Given the description of an element on the screen output the (x, y) to click on. 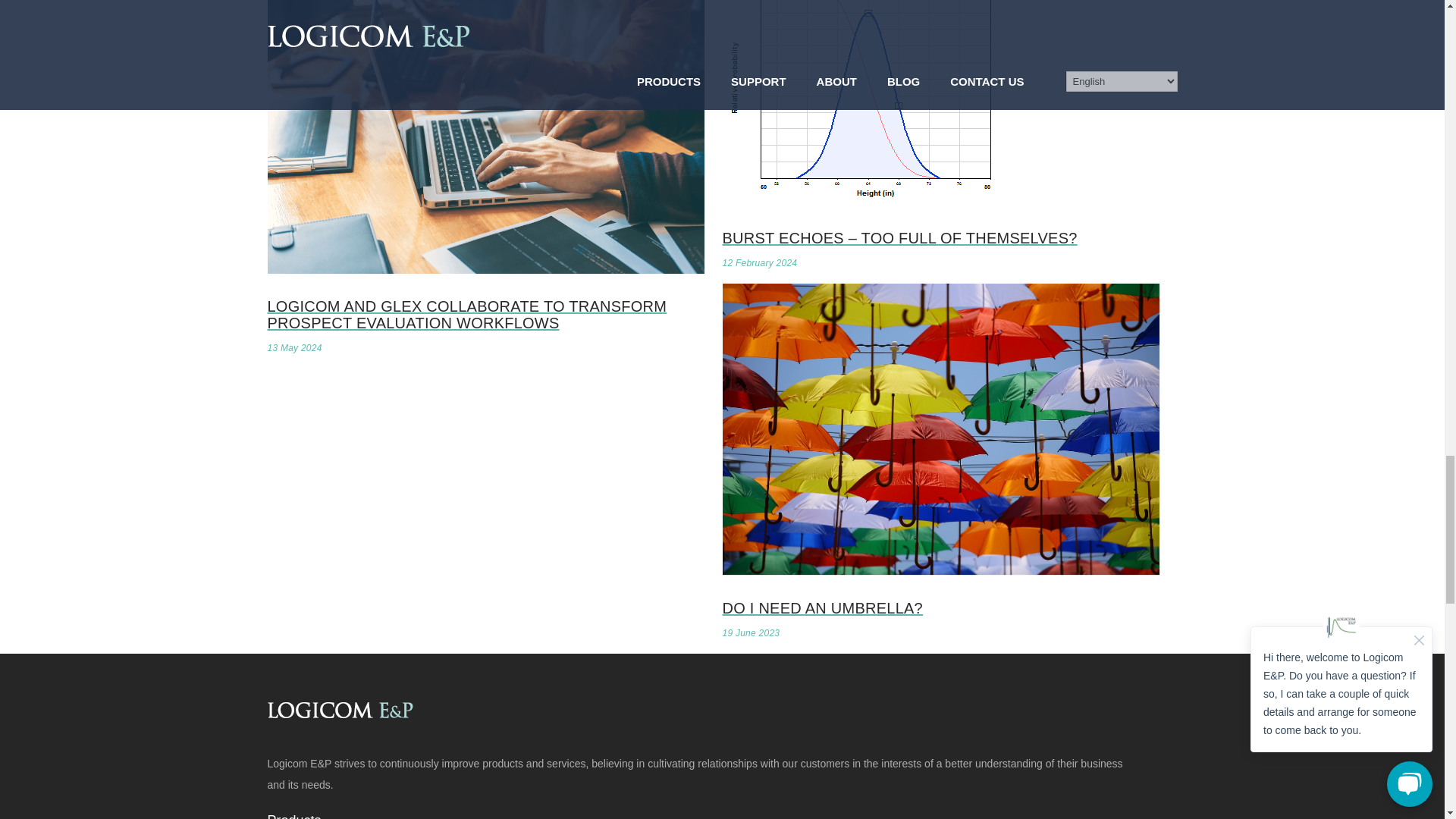
DO I NEED AN UMBRELLA? (940, 590)
